Given the description of an element on the screen output the (x, y) to click on. 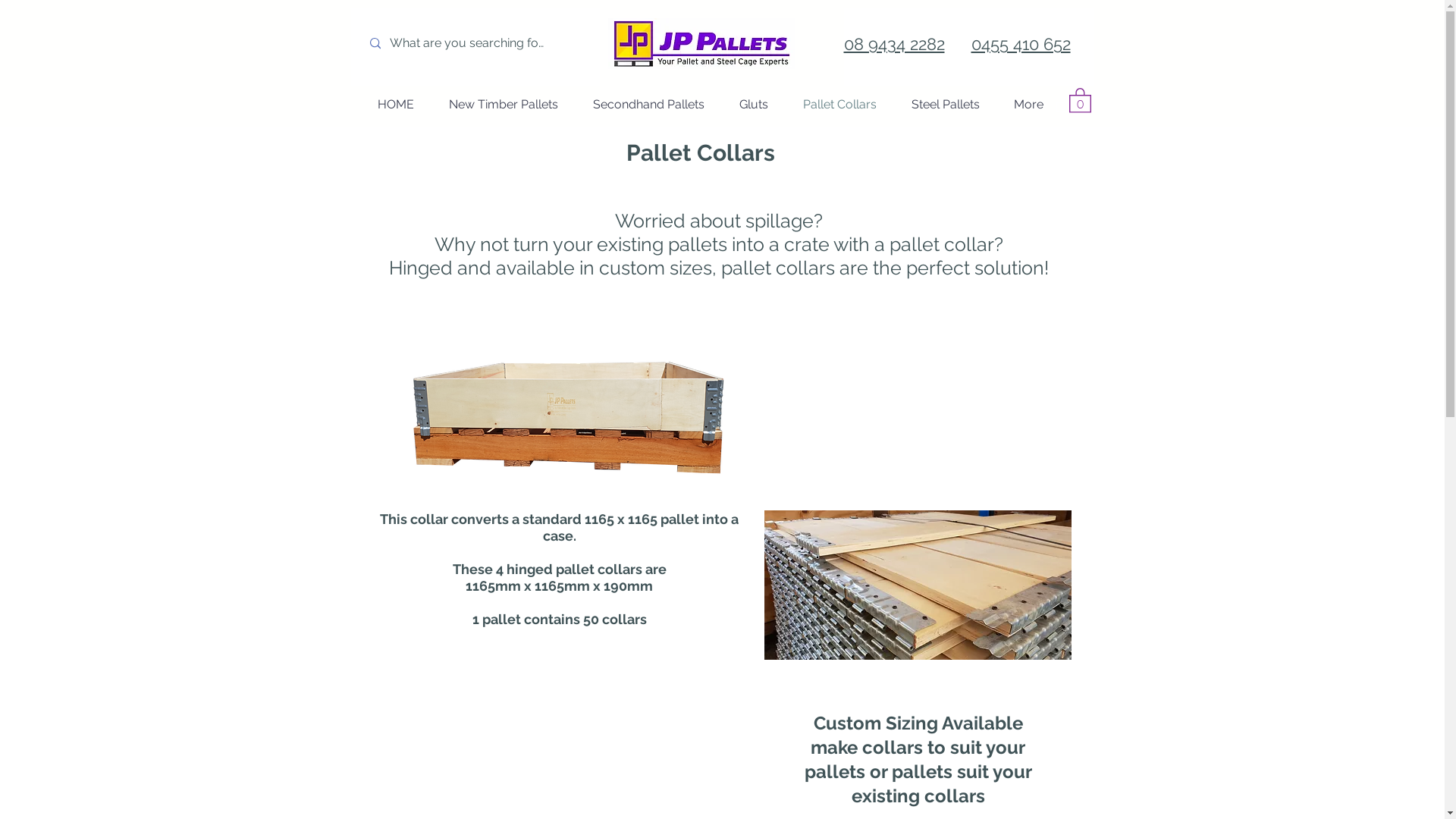
Turn your pallets into boxes with our pallet collars Element type: hover (917, 584)
New Timber Pallets Element type: text (502, 104)
Pallets Perth Element type: hover (701, 43)
Gluts Element type: text (753, 104)
Pallet Collars Element type: text (839, 104)
0455 410 652 Element type: text (1020, 43)
08 9434 2282 Element type: text (893, 43)
Steel Pallets Element type: text (944, 104)
Secondhand Pallets Element type: text (647, 104)
HOME Element type: text (394, 104)
0 Element type: text (1061, 104)
0 Element type: text (1080, 99)
